Given the description of an element on the screen output the (x, y) to click on. 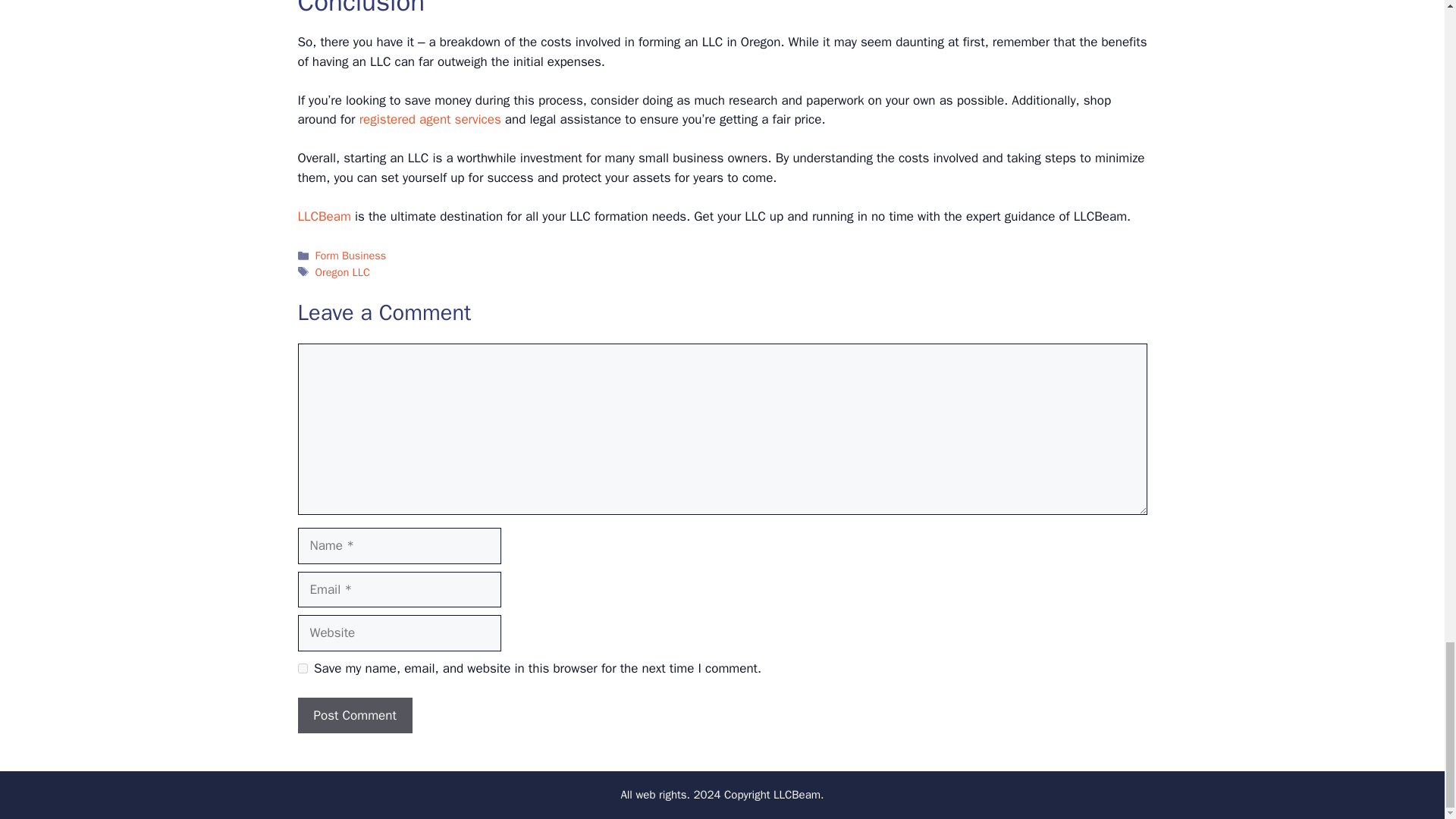
registered agent services (429, 119)
LLCBeam (323, 216)
Post Comment (354, 715)
yes (302, 668)
